Given the description of an element on the screen output the (x, y) to click on. 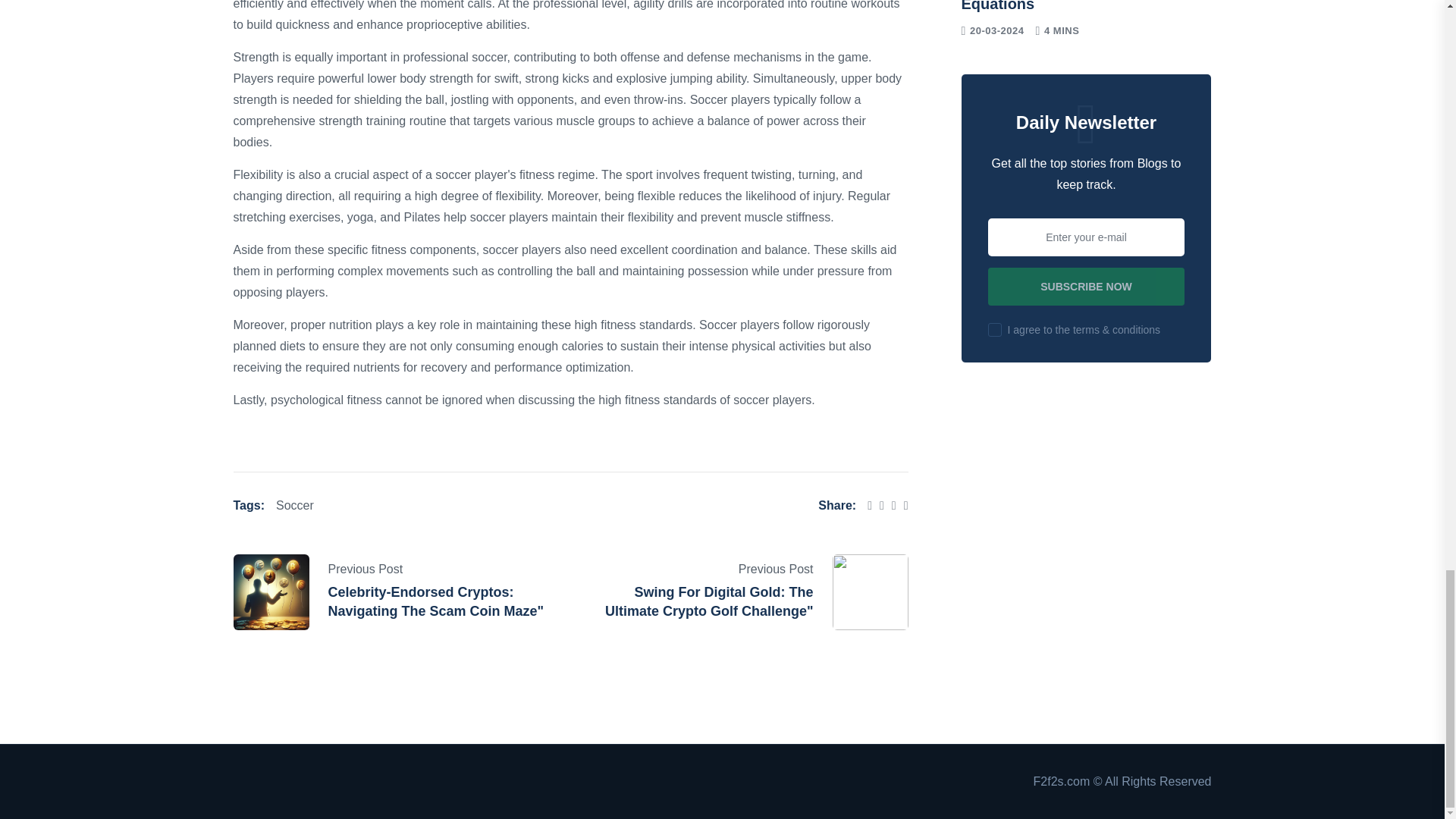
Swing For Digital Gold: The Ultimate Crypto Golf Challenge" (709, 601)
on (994, 329)
Celebrity-Endorsed Cryptos: Navigating The Scam Coin Maze" (435, 601)
